Given the description of an element on the screen output the (x, y) to click on. 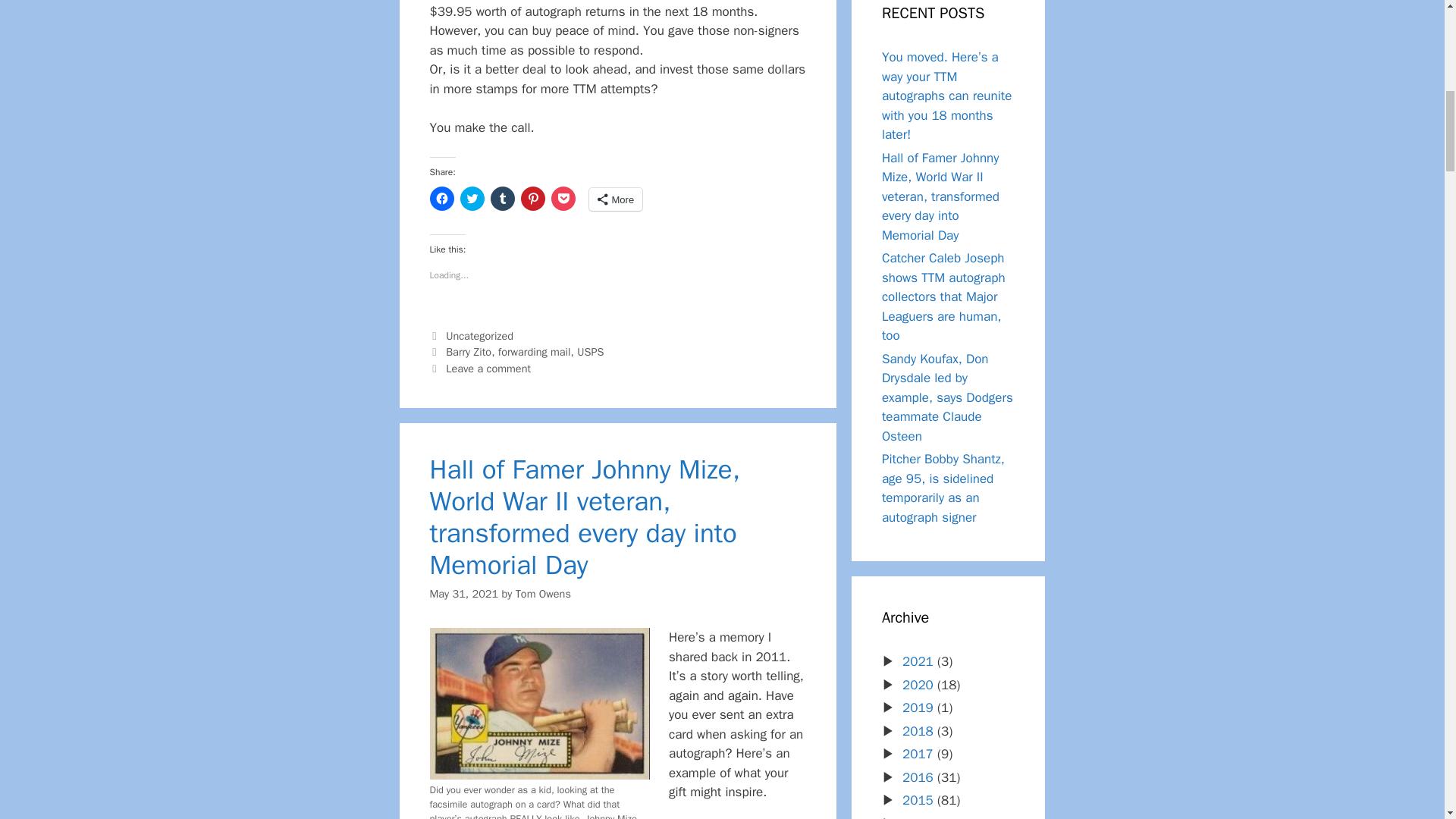
USPS (590, 351)
Click to share on Pocket (562, 198)
Leave a comment (488, 368)
Click to share on Twitter (471, 198)
Click to share on Facebook (440, 198)
Click to share on Pinterest (531, 198)
More (615, 199)
forwarding mail (533, 351)
Tom Owens (542, 593)
